Given the description of an element on the screen output the (x, y) to click on. 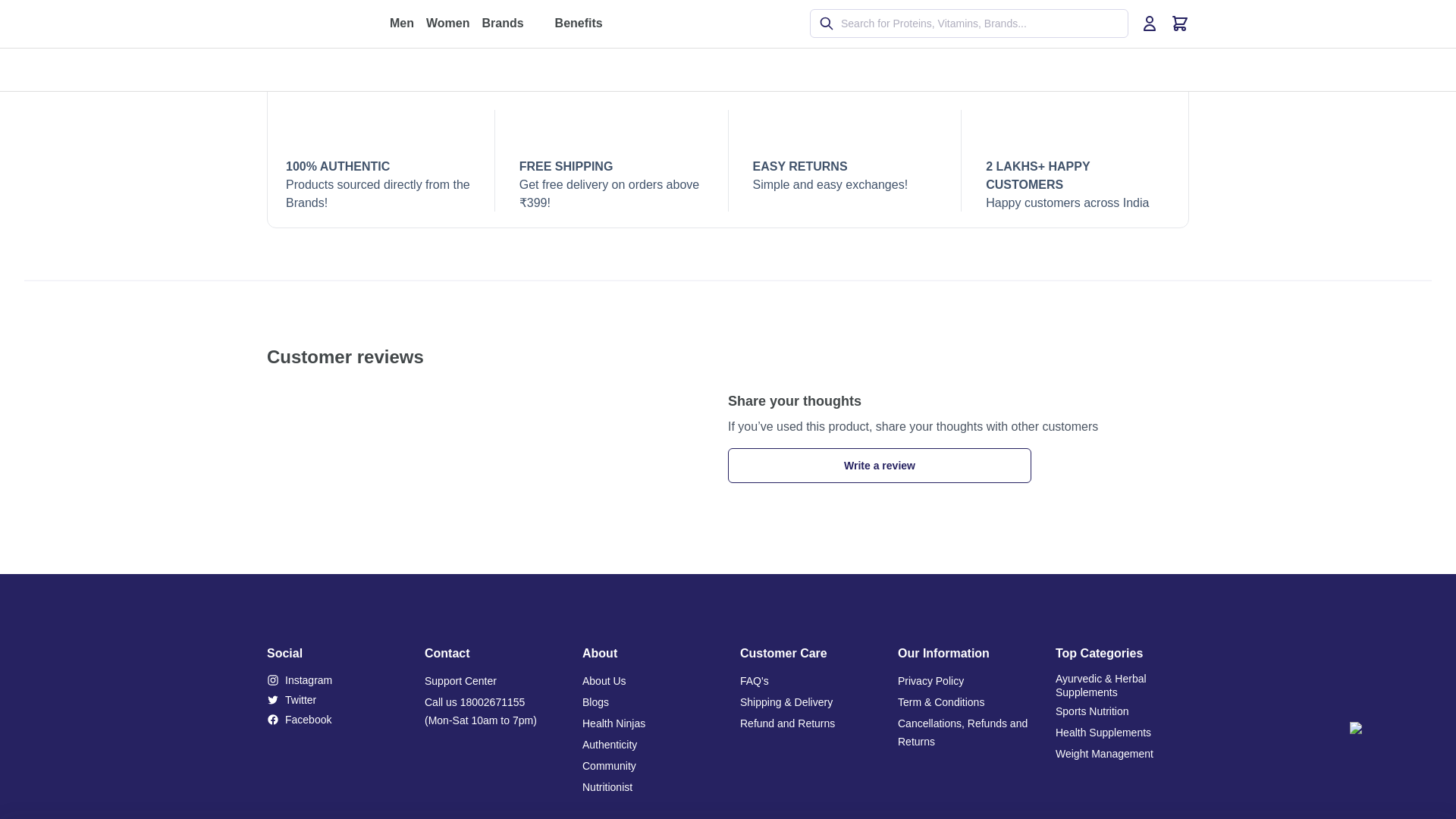
Twitter (333, 699)
Facebook (333, 719)
Instagram (333, 679)
